Given the description of an element on the screen output the (x, y) to click on. 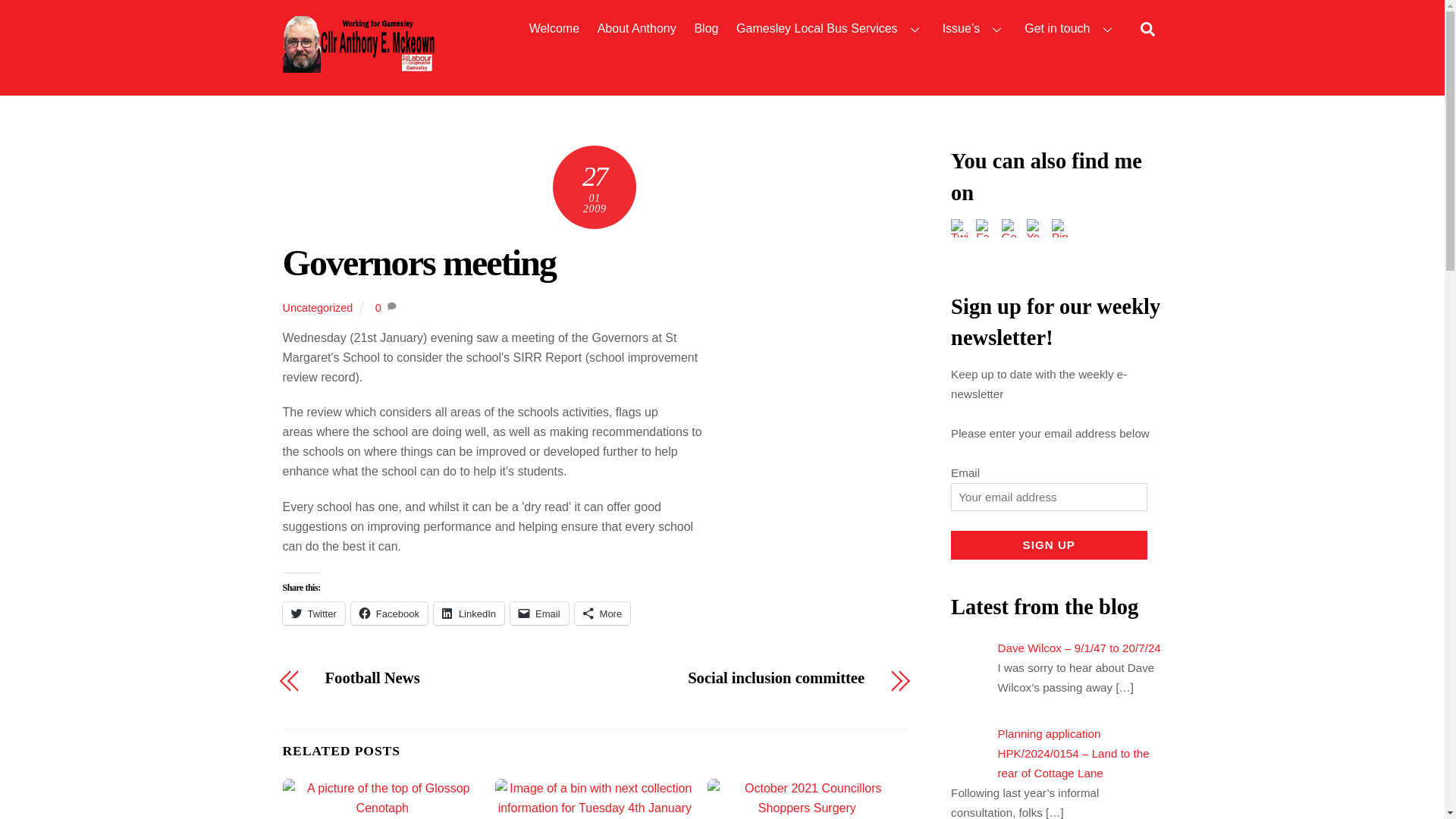
WhatsApp Image 2021-10-29 at 08.28.18 (807, 798)
Click to share on LinkedIn (468, 612)
More (602, 612)
Search (1146, 27)
Governors meeting (419, 262)
Gamesley Local Bus Services (830, 28)
About Anthony (635, 28)
Social inclusion committee (738, 678)
Click to share on Facebook (389, 612)
Anthony Mckeowns Website (357, 65)
Get in touch (1070, 28)
Uncategorized (317, 307)
Click to email a link to a friend (540, 612)
Facebook (389, 612)
Blog (706, 28)
